Given the description of an element on the screen output the (x, y) to click on. 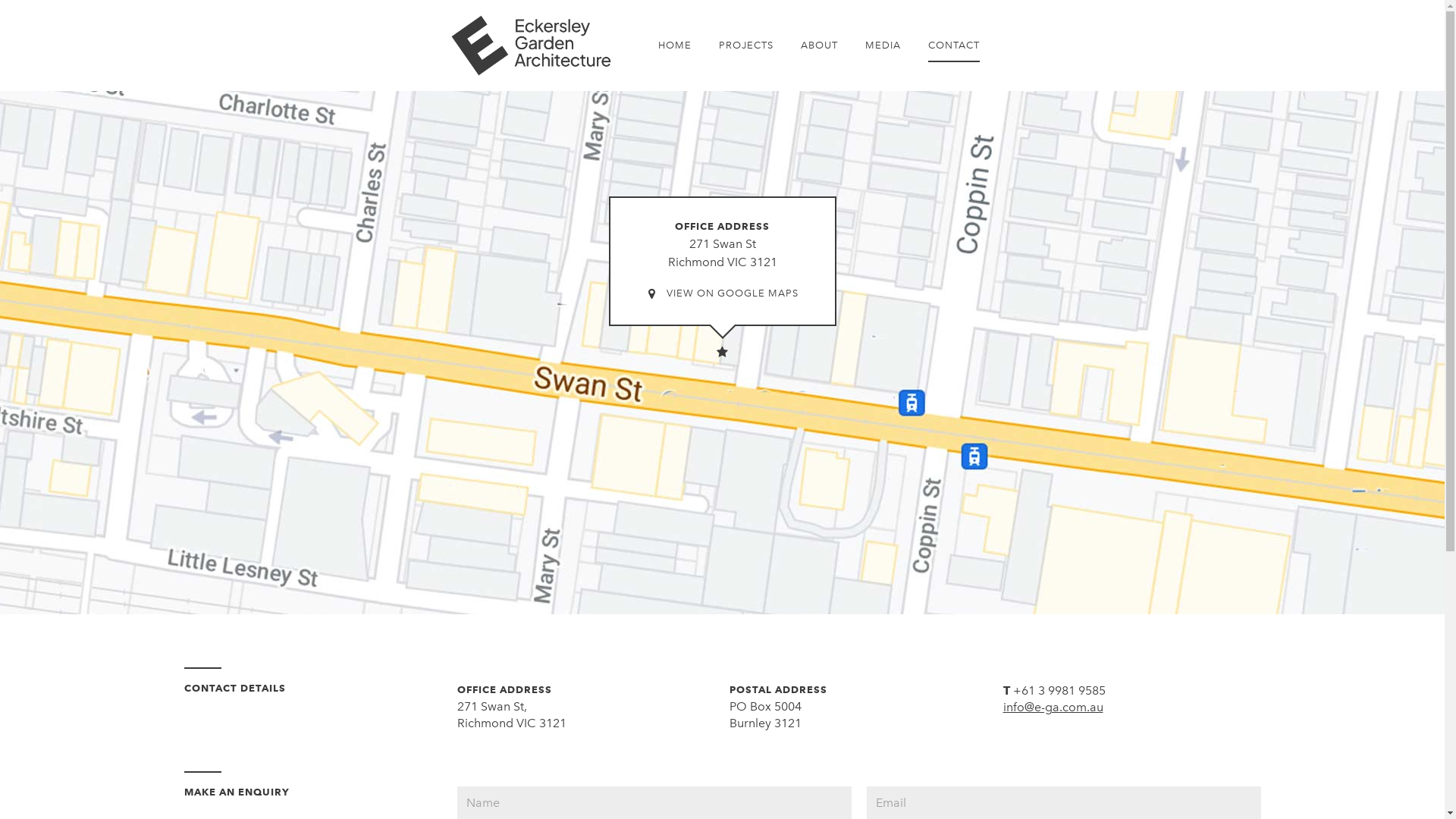
VIEW ON GOOGLE MAPS Element type: text (722, 294)
CONTACT Element type: text (953, 44)
ABOUT Element type: text (818, 44)
MEDIA Element type: text (882, 44)
PROJECTS Element type: text (745, 44)
HOME Element type: text (674, 44)
info@e-ga.com.au Element type: text (1053, 706)
